Given the description of an element on the screen output the (x, y) to click on. 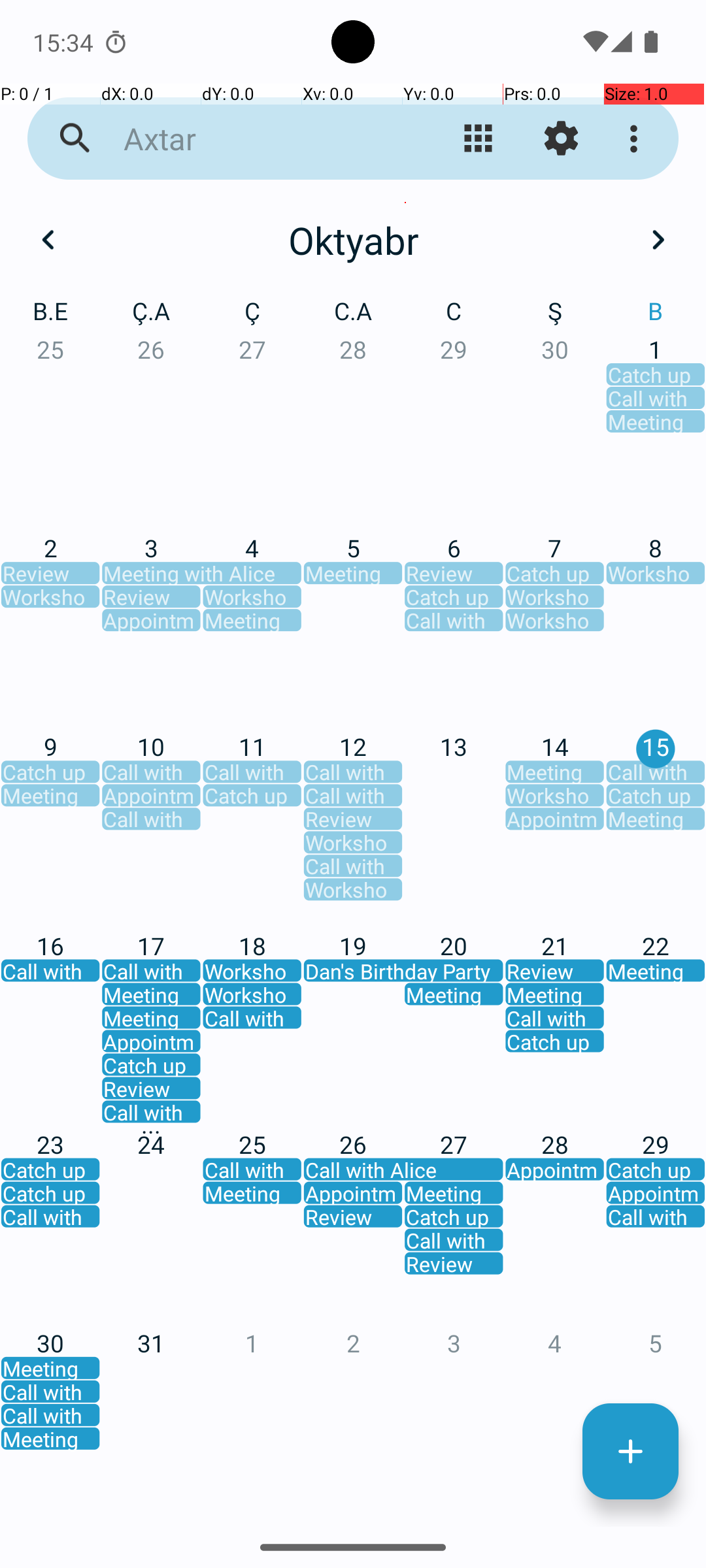
Axtar Element type: android.widget.EditText (252, 138)
Görünüşü dəyiş Element type: android.widget.Button (477, 138)
Digər seçimlər Element type: android.widget.ImageView (636, 138)
Yeni Hadisə Element type: android.widget.ImageButton (630, 1451)
Oktyabr Element type: android.widget.TextView (352, 239)
